Given the description of an element on the screen output the (x, y) to click on. 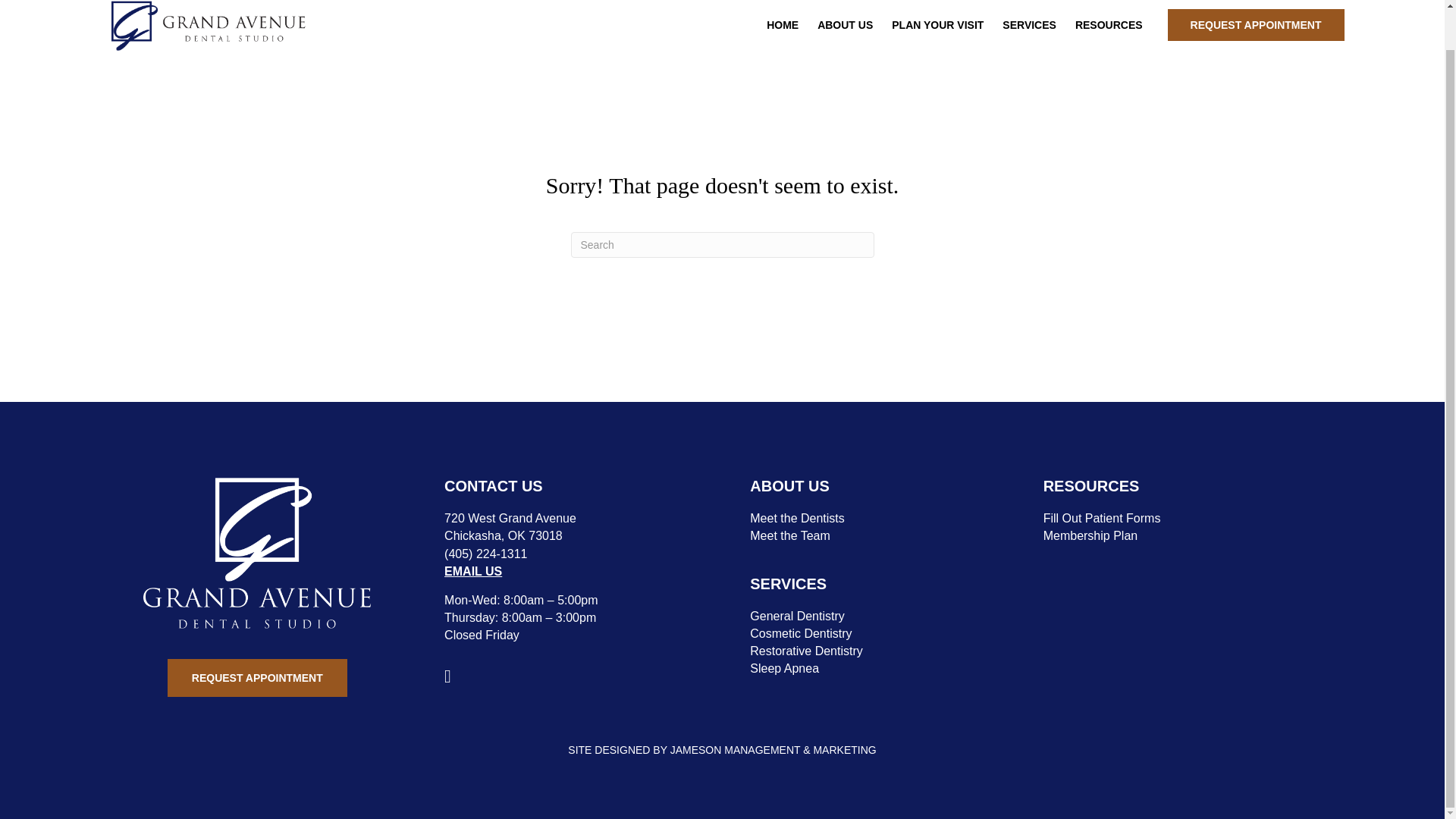
ABOUT US (845, 24)
Cosmetic Dentistry (800, 633)
grand-ave-logo-footer (256, 552)
Meet the Team (789, 535)
Restorative Dentistry (806, 650)
RESOURCES (1108, 24)
EMAIL US (473, 571)
Membership Plan (1090, 535)
REQUEST APPOINTMENT (1255, 24)
720 West Grand Avenue (510, 517)
Fill Out Patient Forms (1101, 517)
grand-ave-logo-menu (205, 27)
Sleep Apnea (783, 667)
SERVICES (1028, 24)
HOME (782, 24)
